Given the description of an element on the screen output the (x, y) to click on. 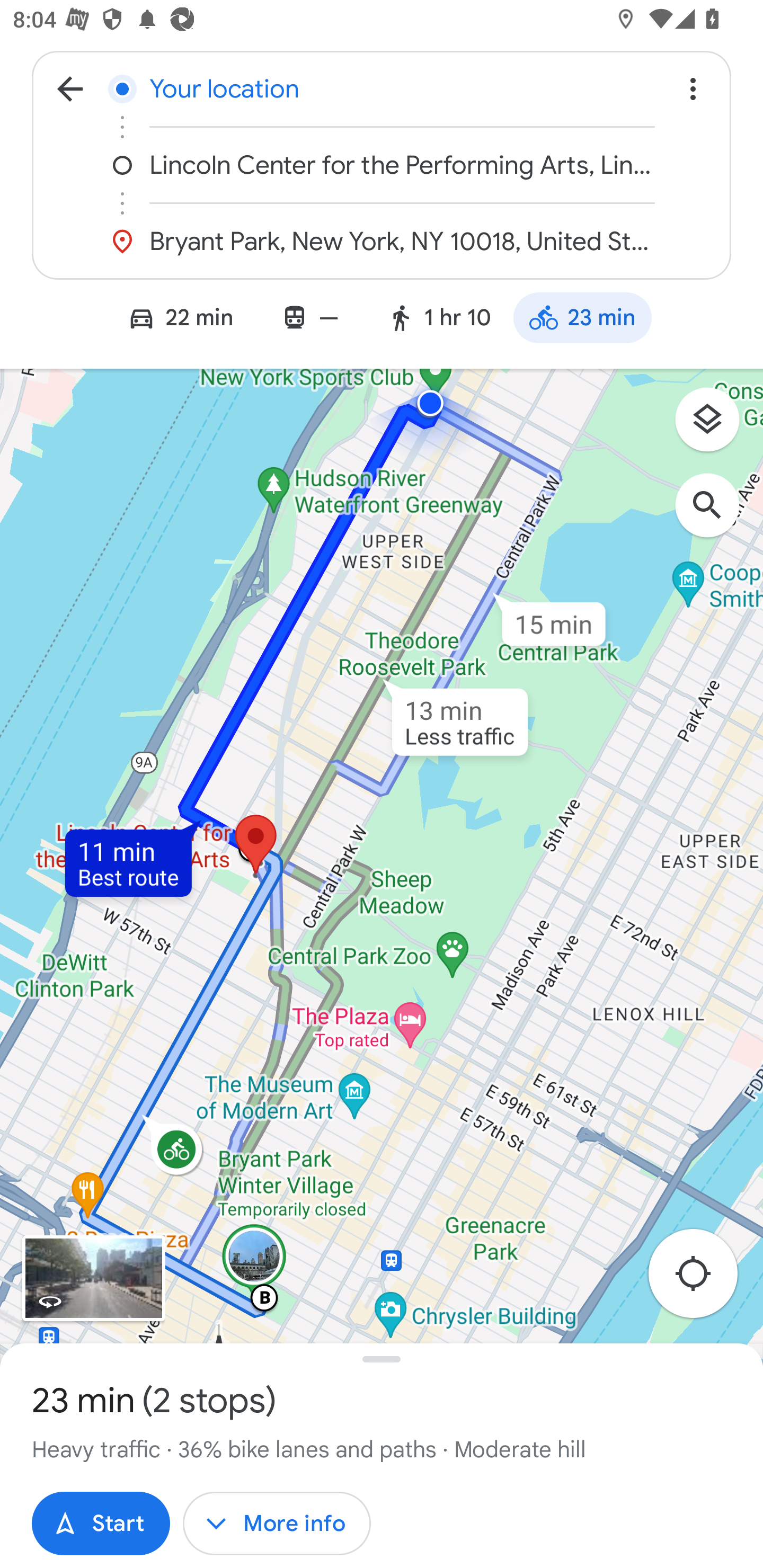
Navigate up (70, 88)
Your location Start location, Your location (381, 88)
Overflow menu (692, 88)
Driving mode: 22 min 22 min (172, 320)
Transit mode: not available — (309, 320)
Walking mode: 1 hr 10 1 hr 10 (438, 320)
Layers (716, 425)
Search along route (716, 514)
Re-center map to your location (702, 1279)
More info More info More info (276, 1522)
